Given the description of an element on the screen output the (x, y) to click on. 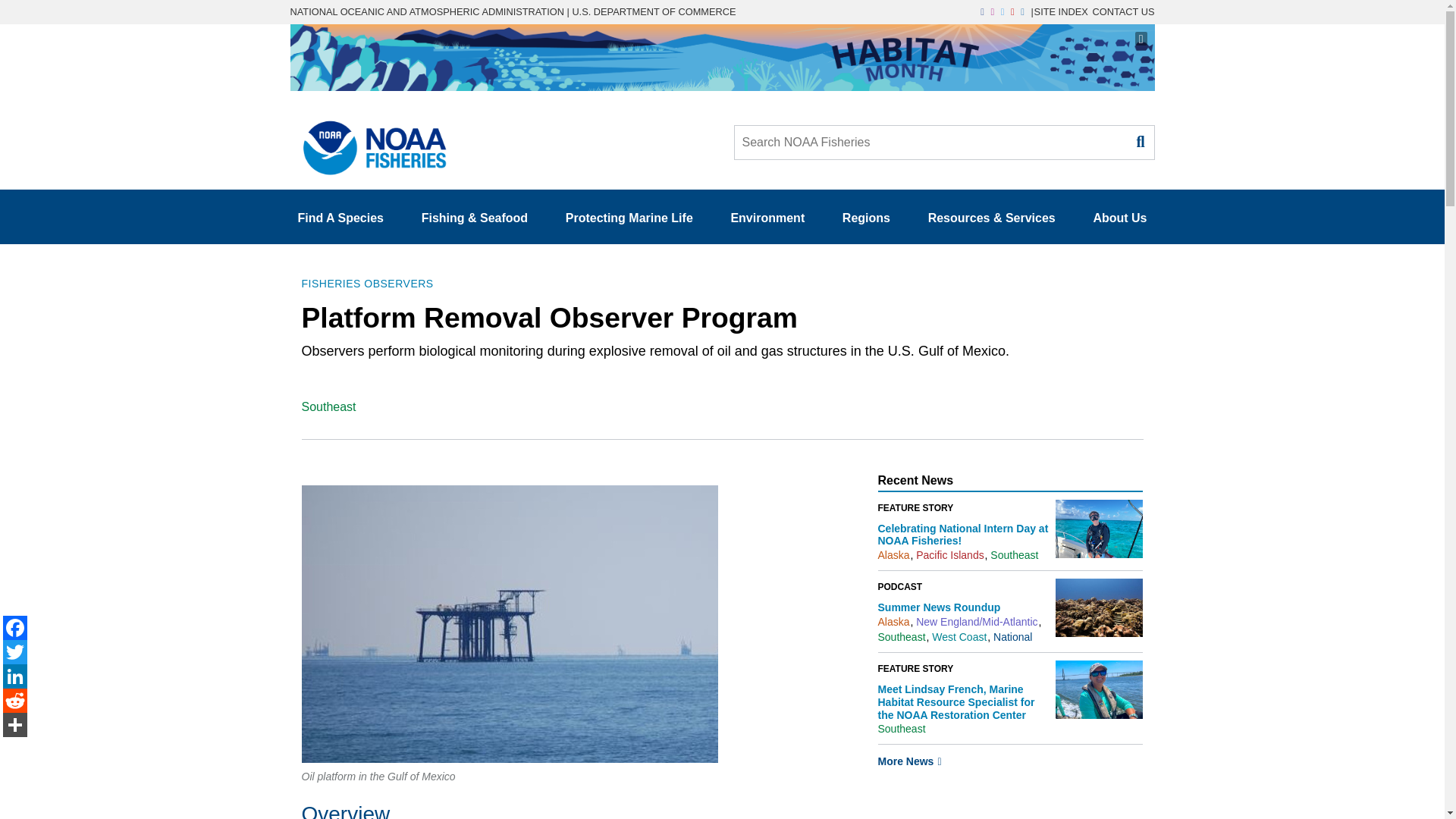
Find A Species (340, 218)
SITE INDEX (1060, 11)
U.S. DEPARTMENT OF COMMERCE (653, 11)
Search (1139, 141)
NATIONAL OCEANIC AND ATMOSPHERIC ADMINISTRATION (426, 11)
Home (368, 143)
CONTACT US (1123, 11)
